Given the description of an element on the screen output the (x, y) to click on. 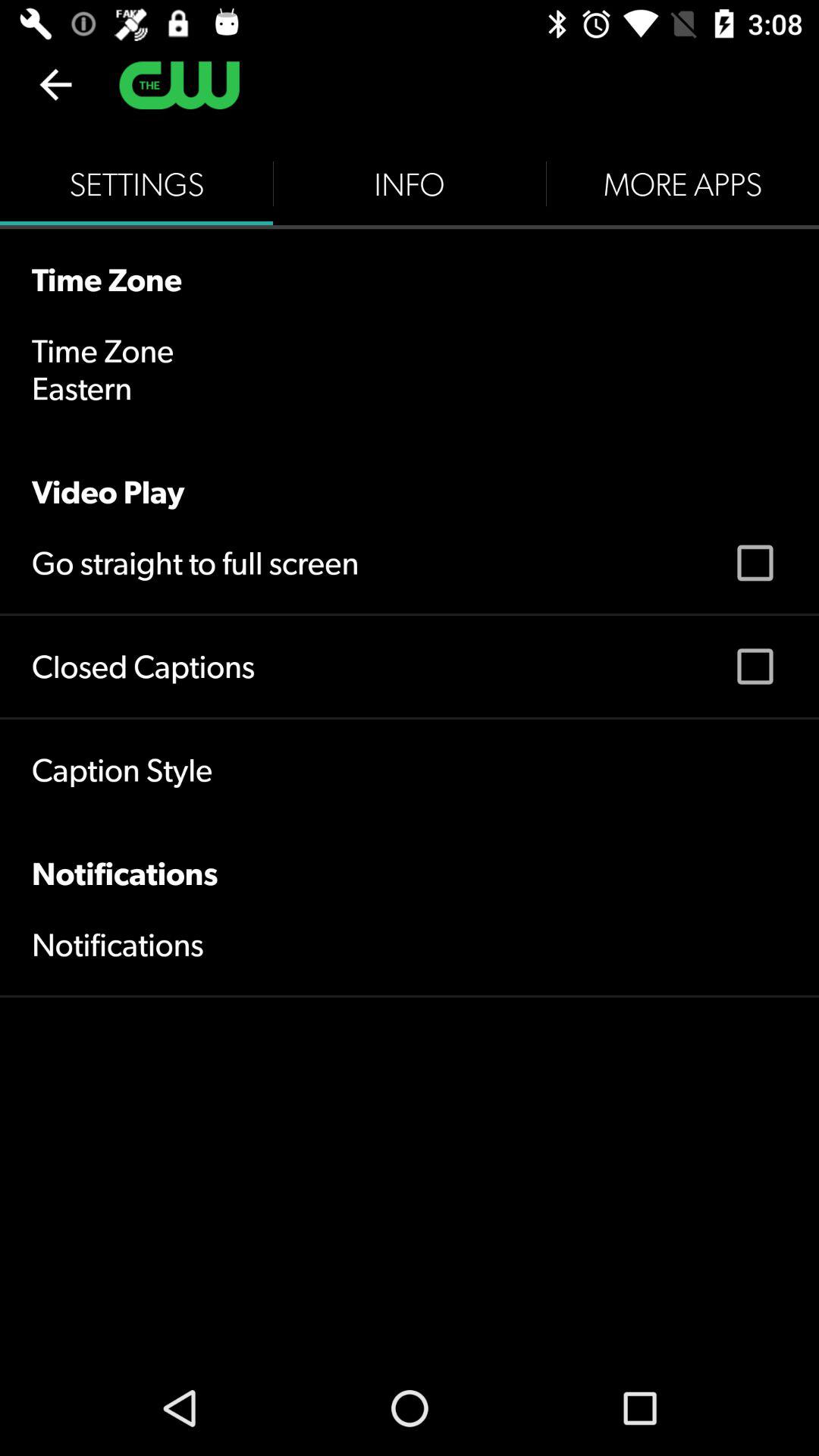
launch closed captions item (142, 666)
